Given the description of an element on the screen output the (x, y) to click on. 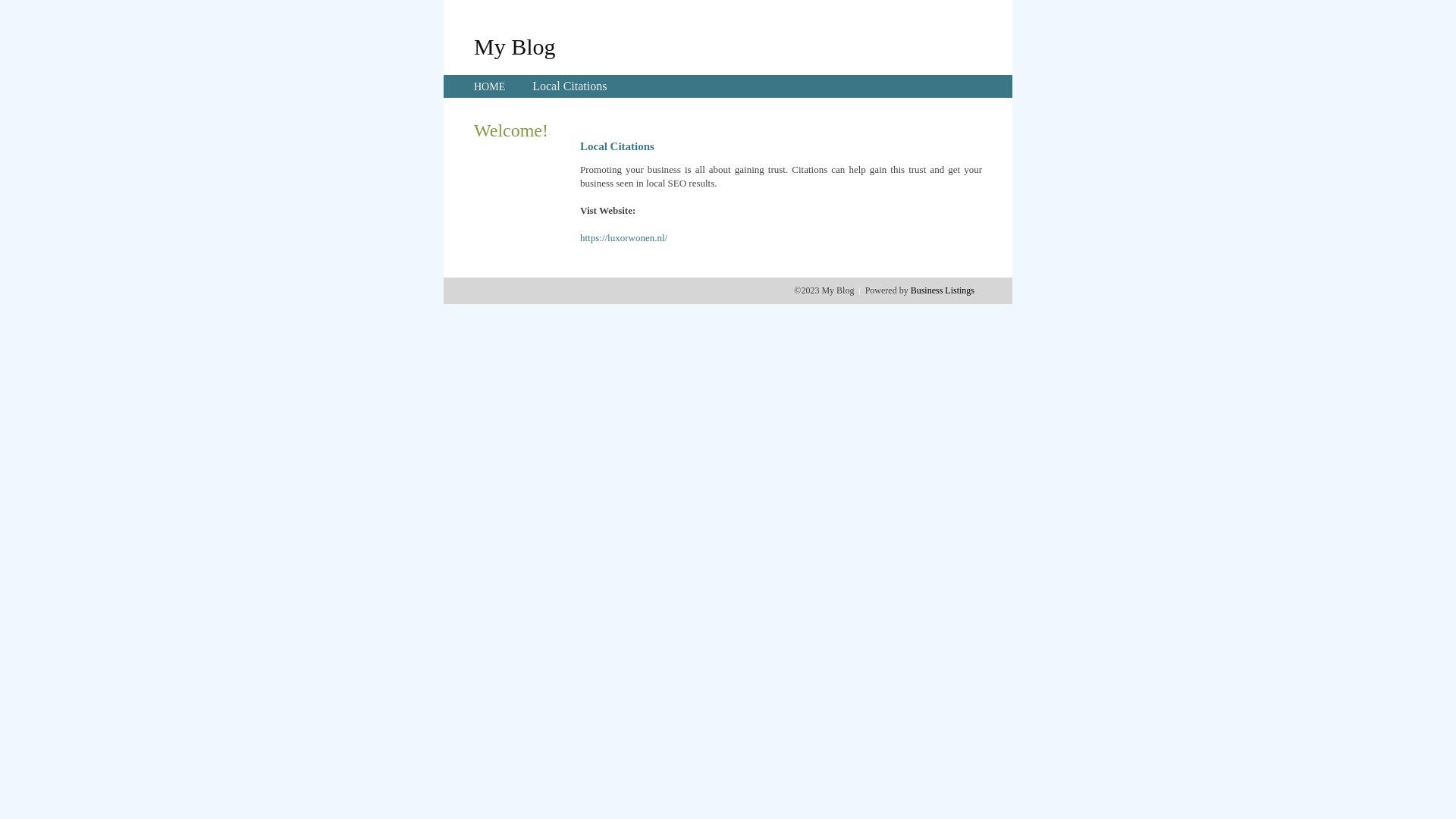
My Blog Element type: text (514, 46)
Business Listings Element type: text (942, 290)
https://luxorwonen.nl/ Element type: text (623, 237)
HOME Element type: text (489, 86)
Local Citations Element type: text (569, 85)
